Given the description of an element on the screen output the (x, y) to click on. 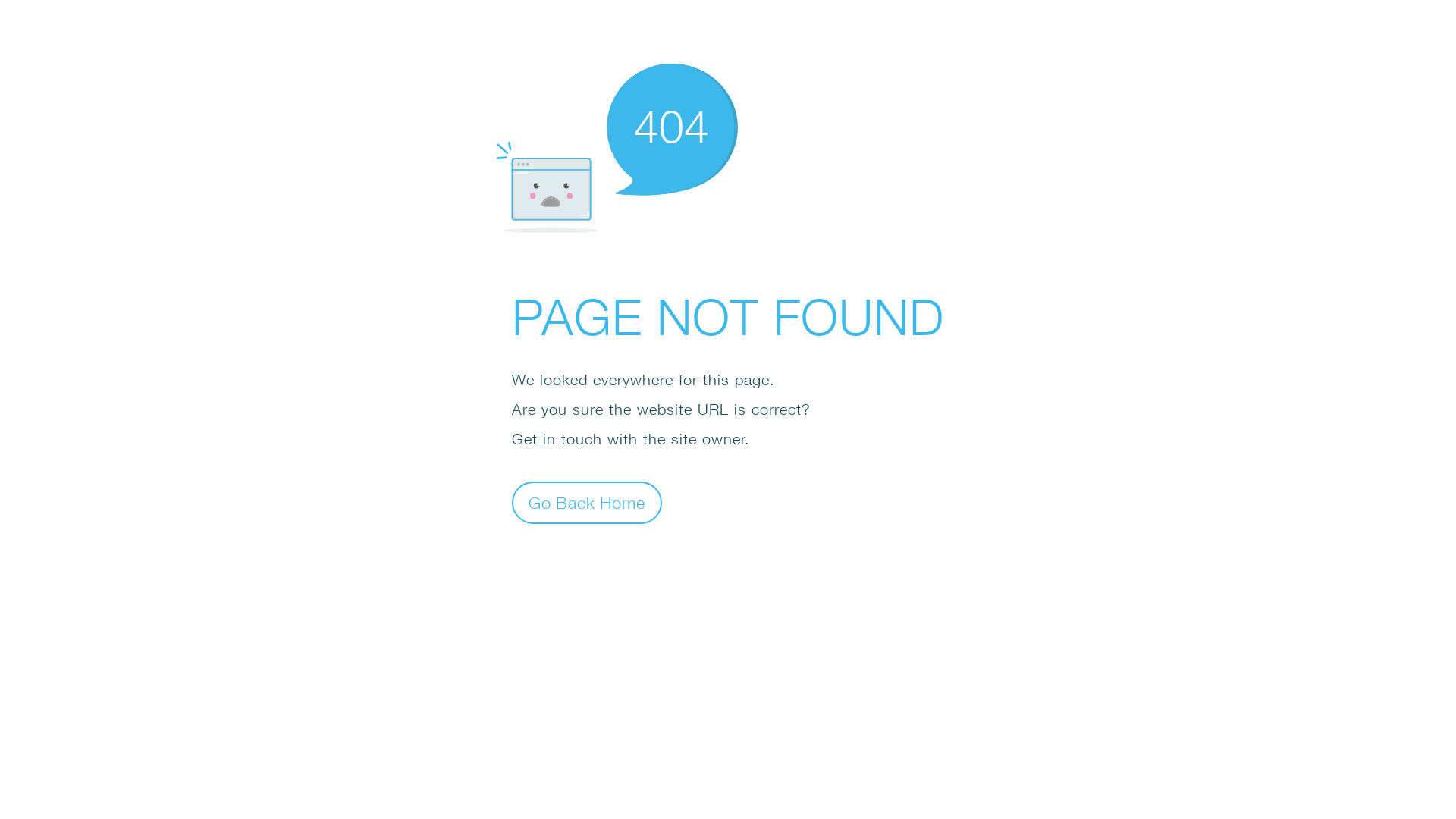
Go Back Home Element type: text (586, 502)
